Given the description of an element on the screen output the (x, y) to click on. 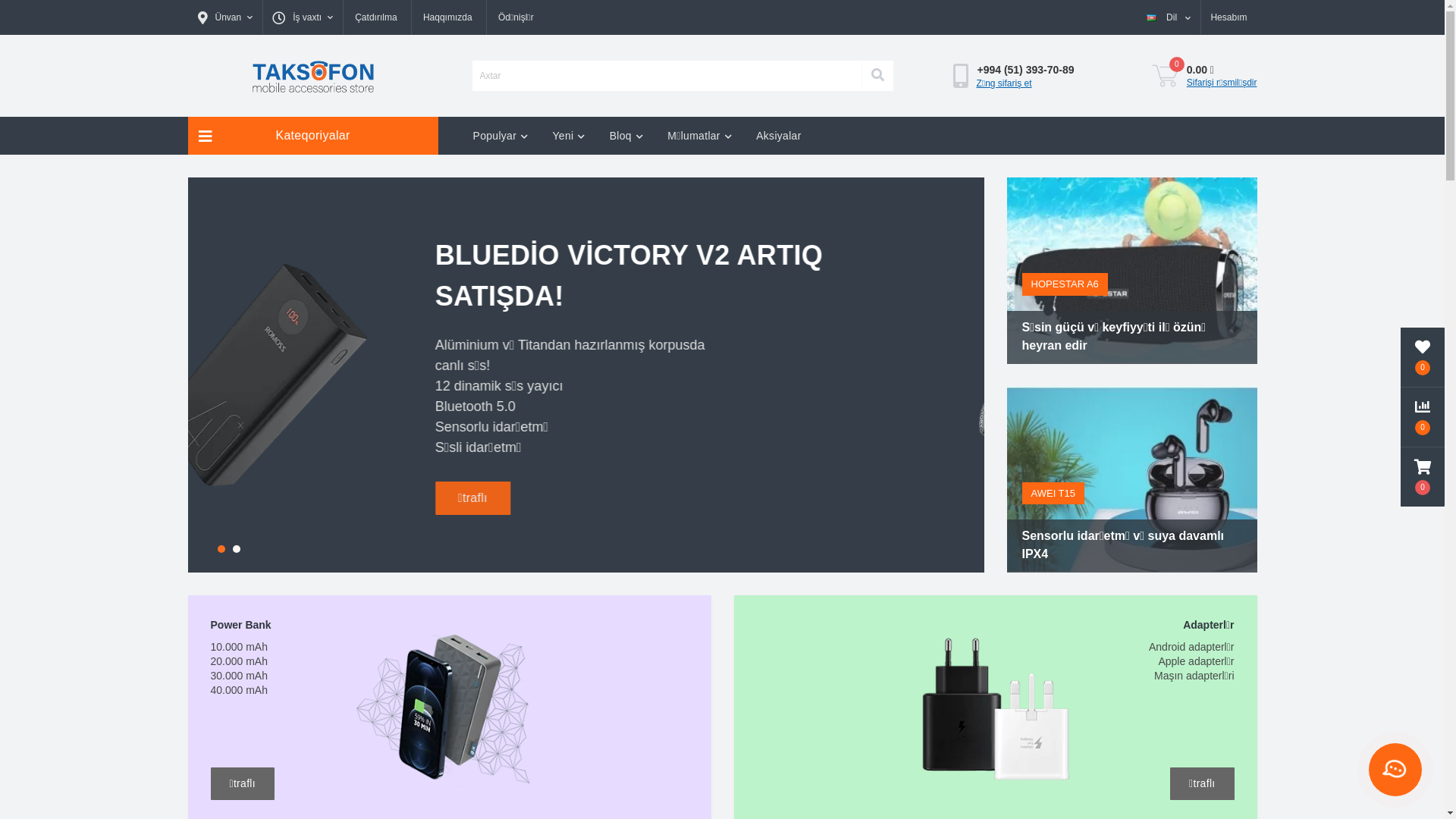
Bloq Element type: text (626, 135)
Power Bank Element type: hover (460, 717)
2 Element type: text (235, 548)
1 Element type: text (220, 548)
Populyar Element type: text (500, 135)
0 Element type: text (1422, 476)
0 Element type: text (1422, 356)
0 Element type: text (1165, 75)
AWEI T15 Element type: text (1053, 493)
0 Element type: text (1422, 416)
Dil Element type: text (1168, 17)
+994 (51) 393-70-89 Element type: text (1024, 69)
Taksofon Element type: hover (312, 75)
Aksiyalar Element type: text (778, 135)
HOPESTAR A6 Element type: text (1064, 284)
Yeni Element type: text (567, 135)
